Given the description of an element on the screen output the (x, y) to click on. 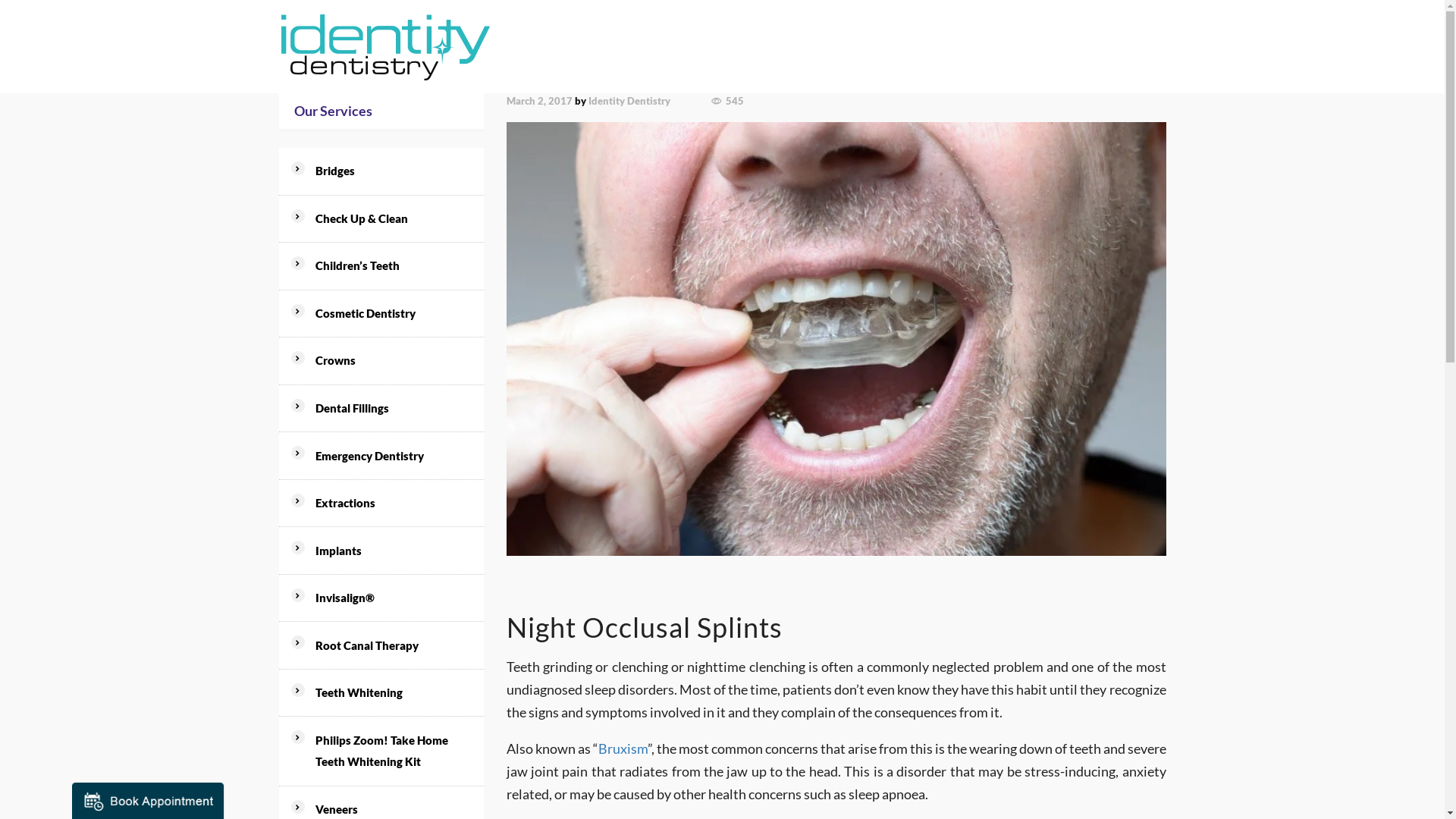
545 Element type: text (727, 101)
March 2, 2017 Element type: text (539, 100)
Bruxism Element type: text (621, 748)
Dental Fillings Element type: text (390, 408)
Root Canal Therapy Element type: text (390, 644)
Crowns Element type: text (390, 360)
Check Up & Clean Element type: text (390, 218)
Bridges Element type: text (390, 170)
Philips Zoom! Take Home Teeth Whitening Kit Element type: text (390, 750)
Occlusal Splints Element type: hover (836, 338)
Teeth Whitening Element type: text (390, 692)
Identity Dentistry Element type: text (629, 100)
Emergency Dentistry Element type: text (390, 455)
Implants Element type: text (390, 550)
Extractions Element type: text (390, 503)
Cosmetic Dentistry Element type: text (390, 313)
